Given the description of an element on the screen output the (x, y) to click on. 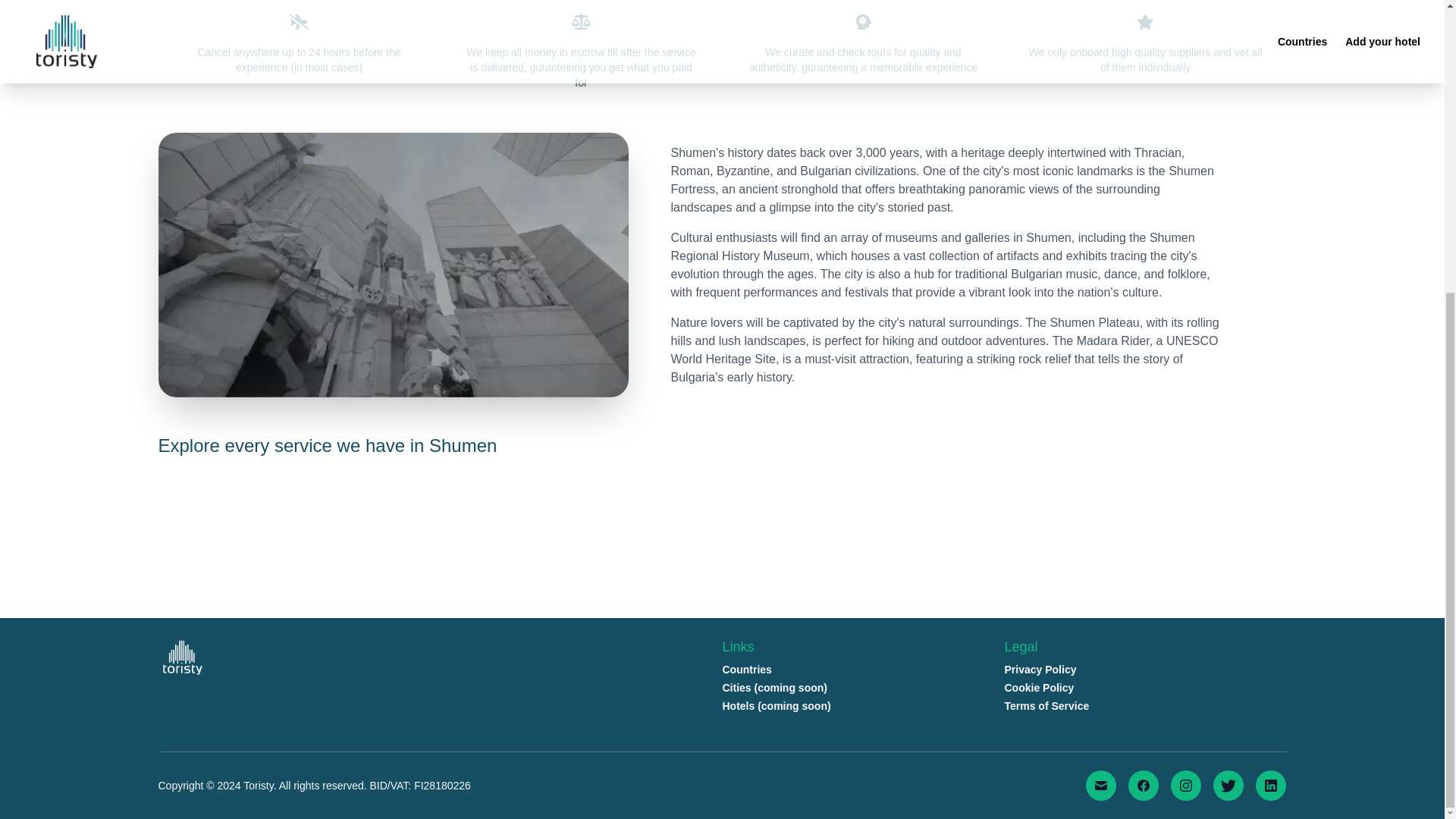
Facebook (1143, 785)
Twitter (1227, 785)
LinkedIn (1270, 785)
Email (1101, 785)
Instagram (1185, 785)
Terms of Service (1046, 705)
Cookie Policy (1039, 687)
Privacy Policy (1039, 669)
Countries (746, 669)
